Given the description of an element on the screen output the (x, y) to click on. 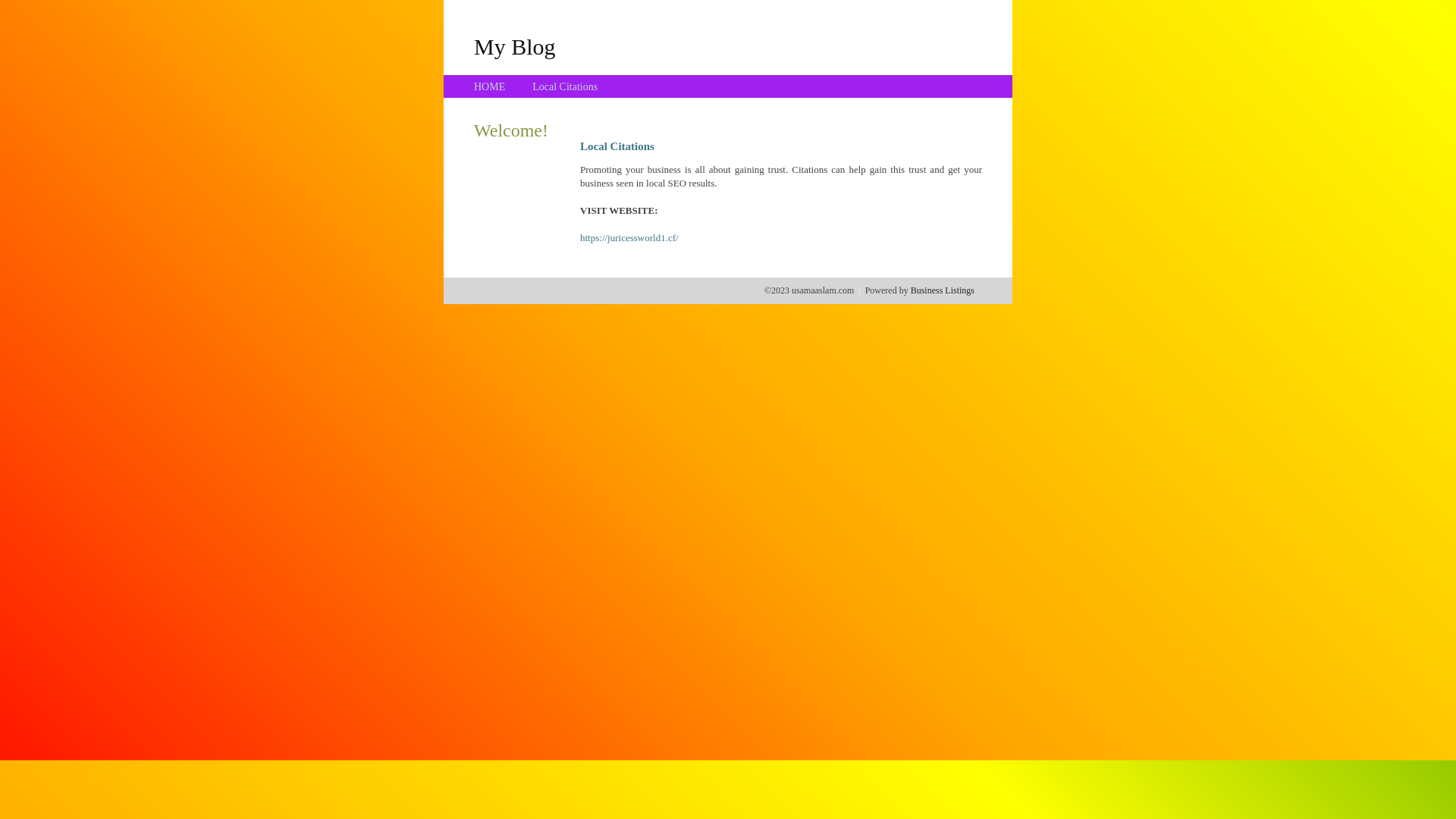
https://juricessworld1.cf/ Element type: text (629, 237)
Local Citations Element type: text (564, 86)
HOME Element type: text (489, 86)
Business Listings Element type: text (942, 290)
My Blog Element type: text (514, 46)
